Given the description of an element on the screen output the (x, y) to click on. 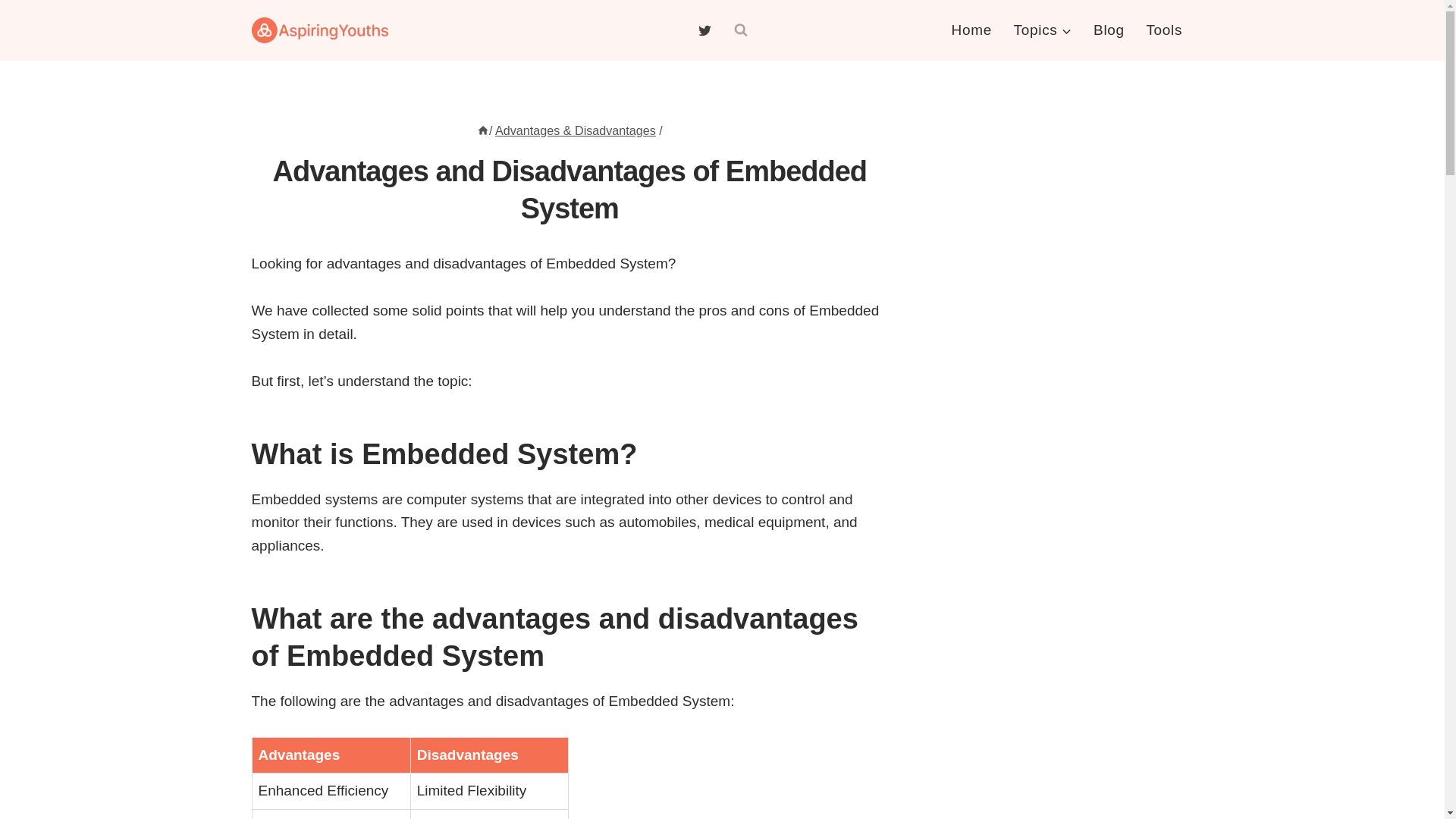
Home (971, 30)
Topics (1043, 30)
Tools (1163, 30)
Home (483, 130)
Blog (1109, 30)
